Given the description of an element on the screen output the (x, y) to click on. 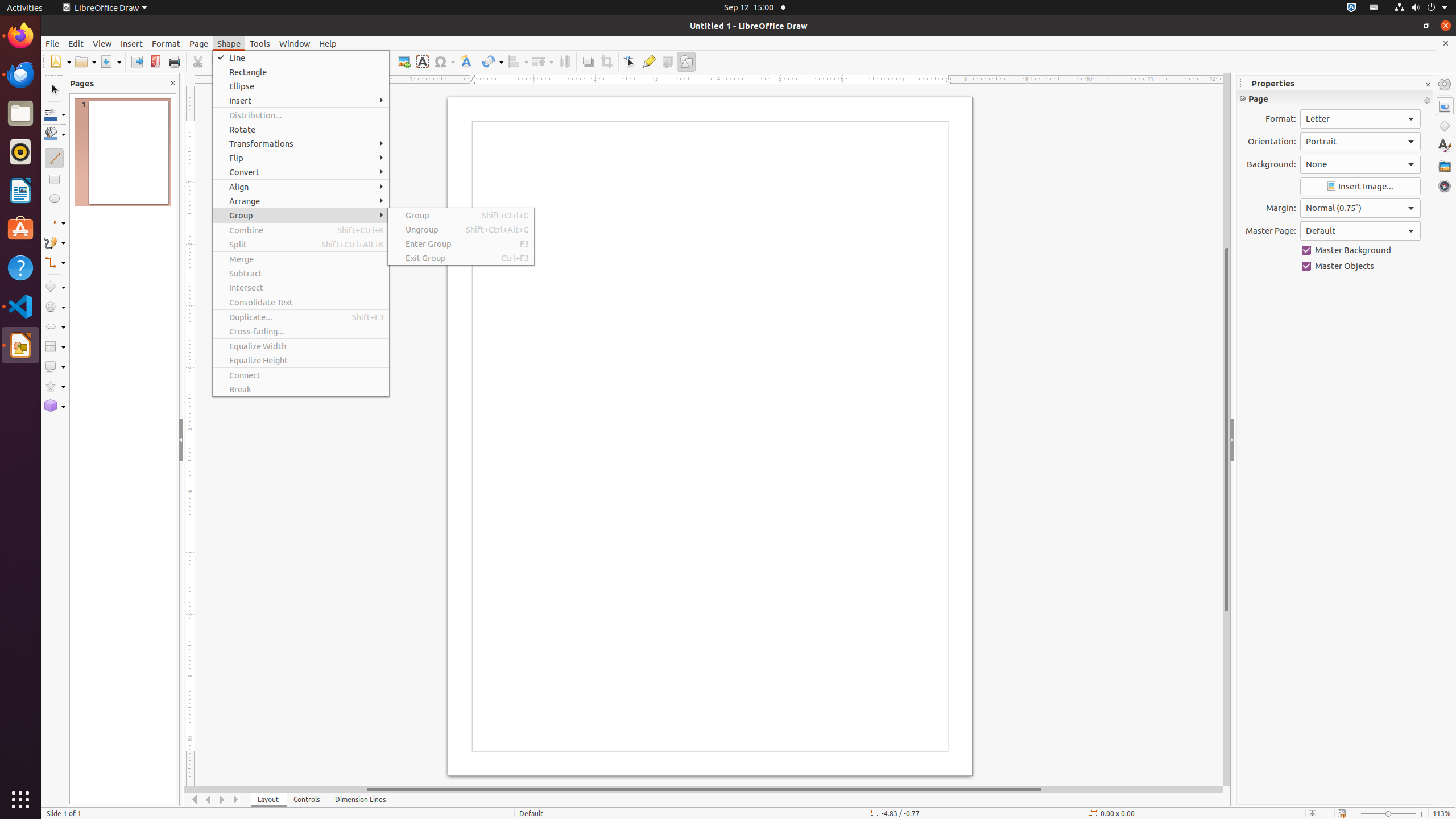
Shadow Element type: toggle-button (587, 61)
Page Element type: menu (198, 43)
Format: Element type: combo-box (1360, 118)
Symbol Element type: push-button (443, 61)
Edit Points Element type: push-button (629, 61)
